Given the description of an element on the screen output the (x, y) to click on. 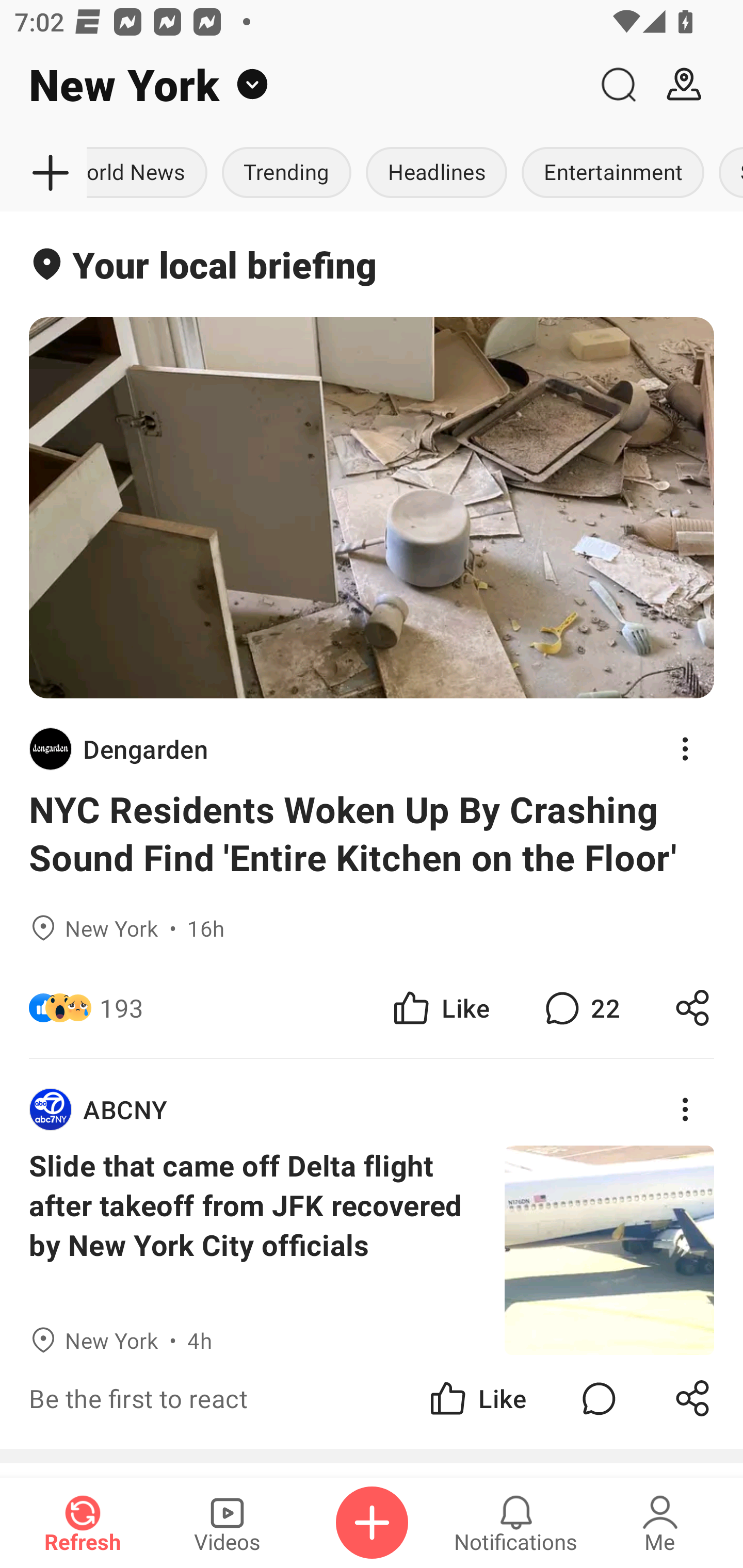
New York (292, 84)
World News (150, 172)
Trending (286, 172)
Headlines (436, 172)
Entertainment (612, 172)
193 (121, 1007)
Like (439, 1007)
22 (579, 1007)
Be the first to react (244, 1397)
Like (476, 1397)
Videos (227, 1522)
Notifications (516, 1522)
Me (659, 1522)
